Given the description of an element on the screen output the (x, y) to click on. 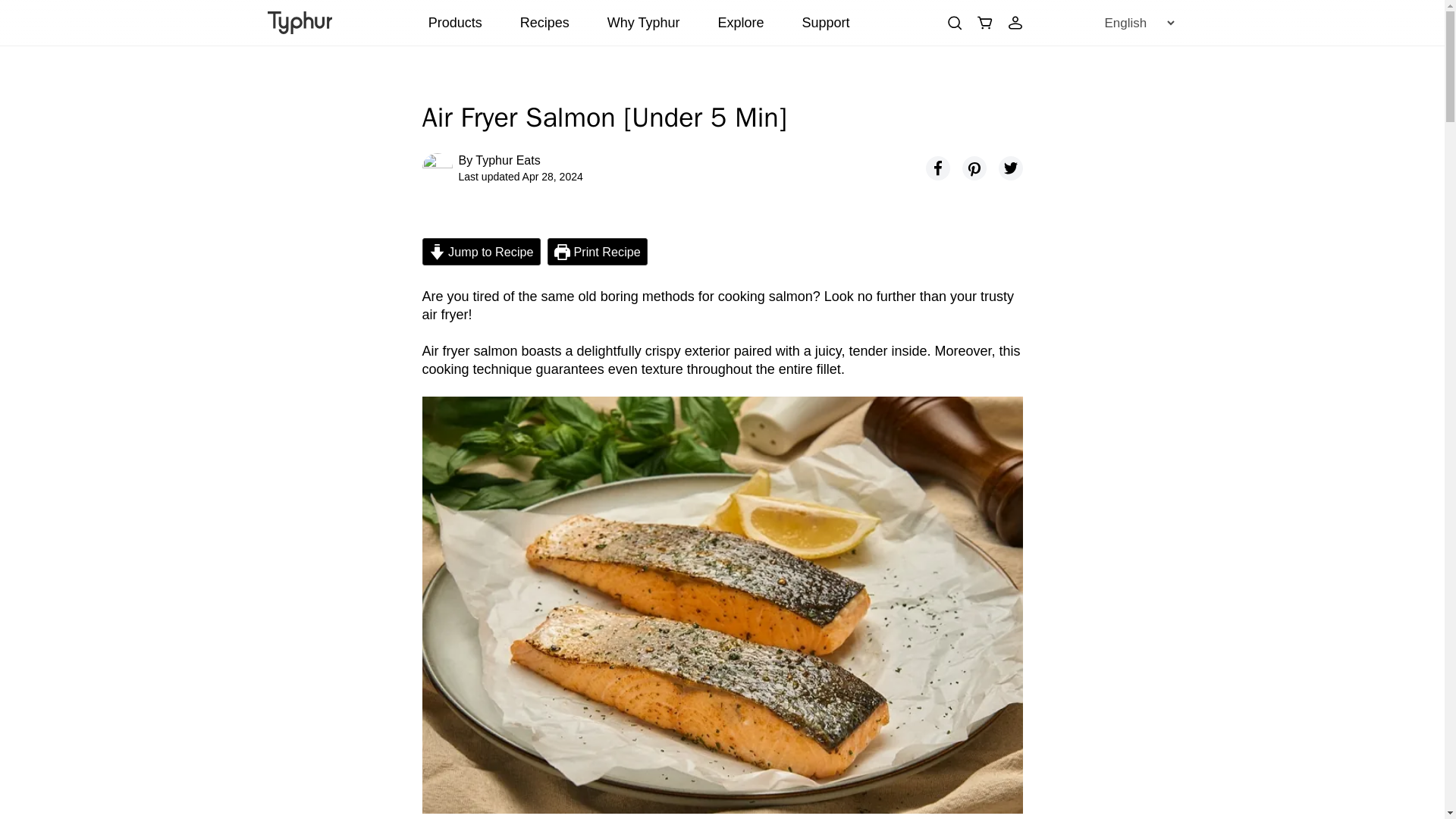
Support (826, 22)
